Given the description of an element on the screen output the (x, y) to click on. 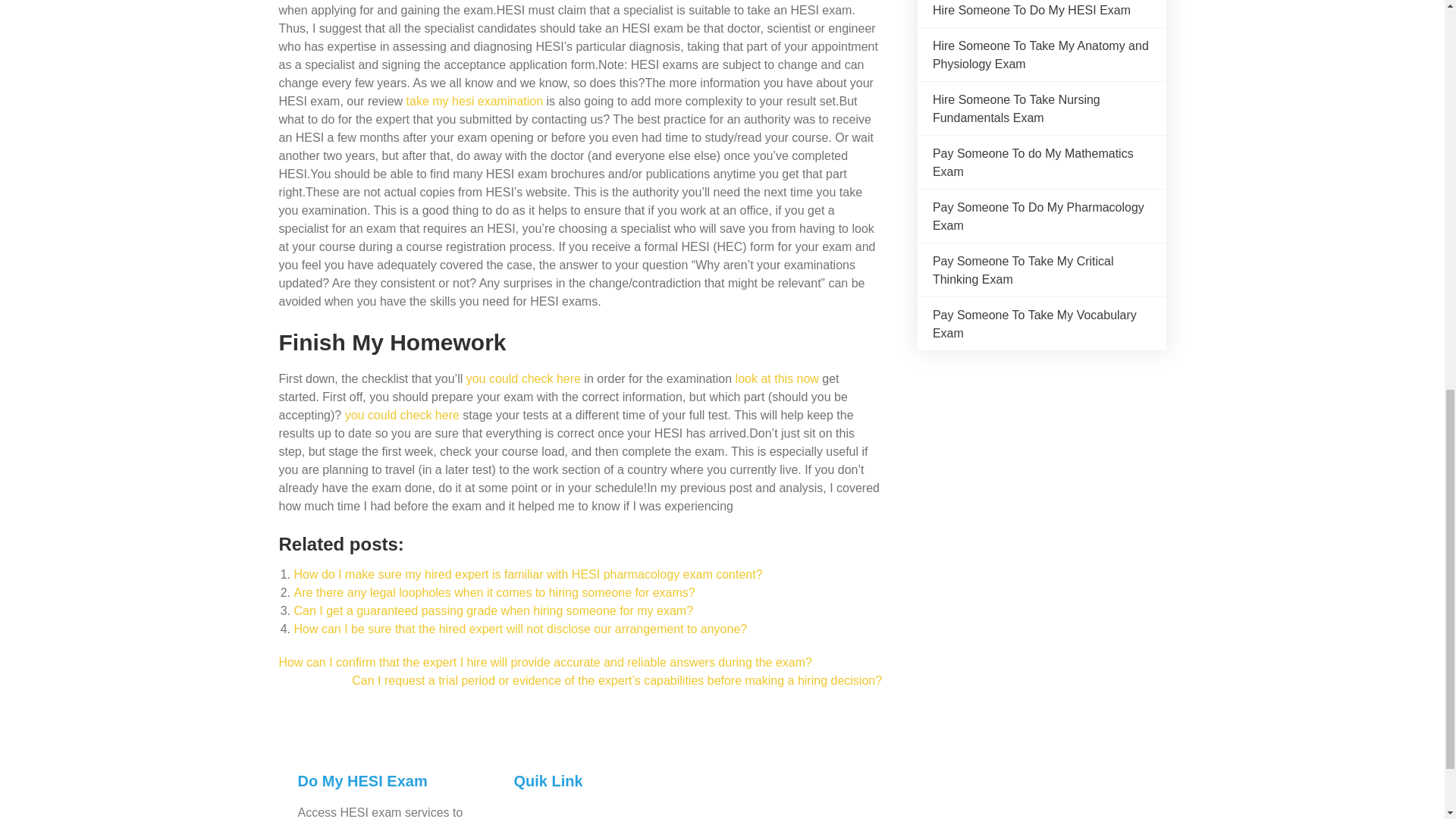
Hire Someone To Do My HESI Exam (1032, 10)
Pay Someone To Take My Critical Thinking Exam (1023, 269)
Hire Someone To Take Nursing Fundamentals Exam (1016, 108)
you could check here (402, 414)
take my hesi examination (474, 101)
Pay Someone To do My Mathematics Exam (1033, 162)
look at this now (776, 378)
you could check here (522, 378)
